Given the description of an element on the screen output the (x, y) to click on. 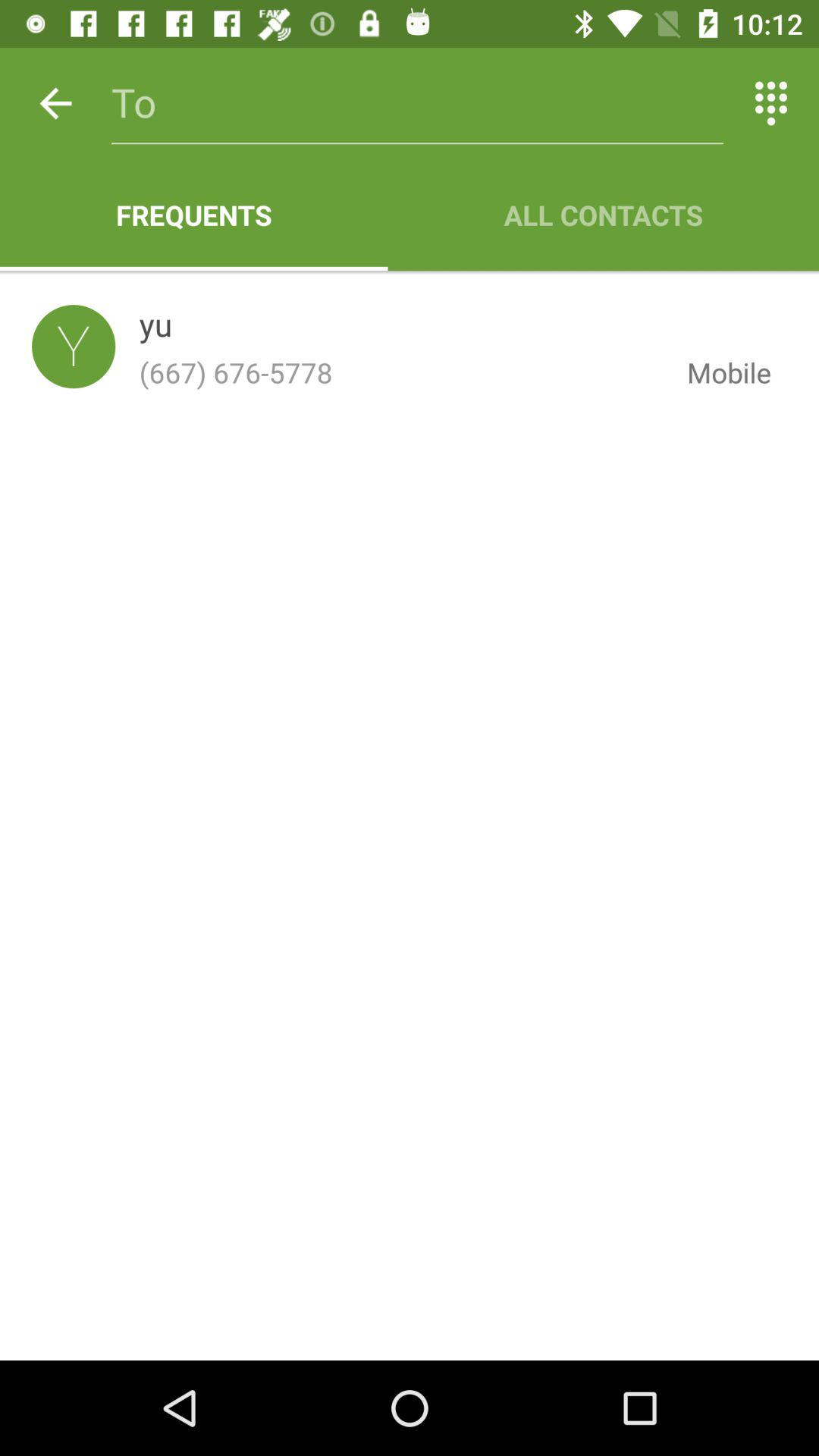
press item next to (667) 676-5778 item (717, 372)
